Given the description of an element on the screen output the (x, y) to click on. 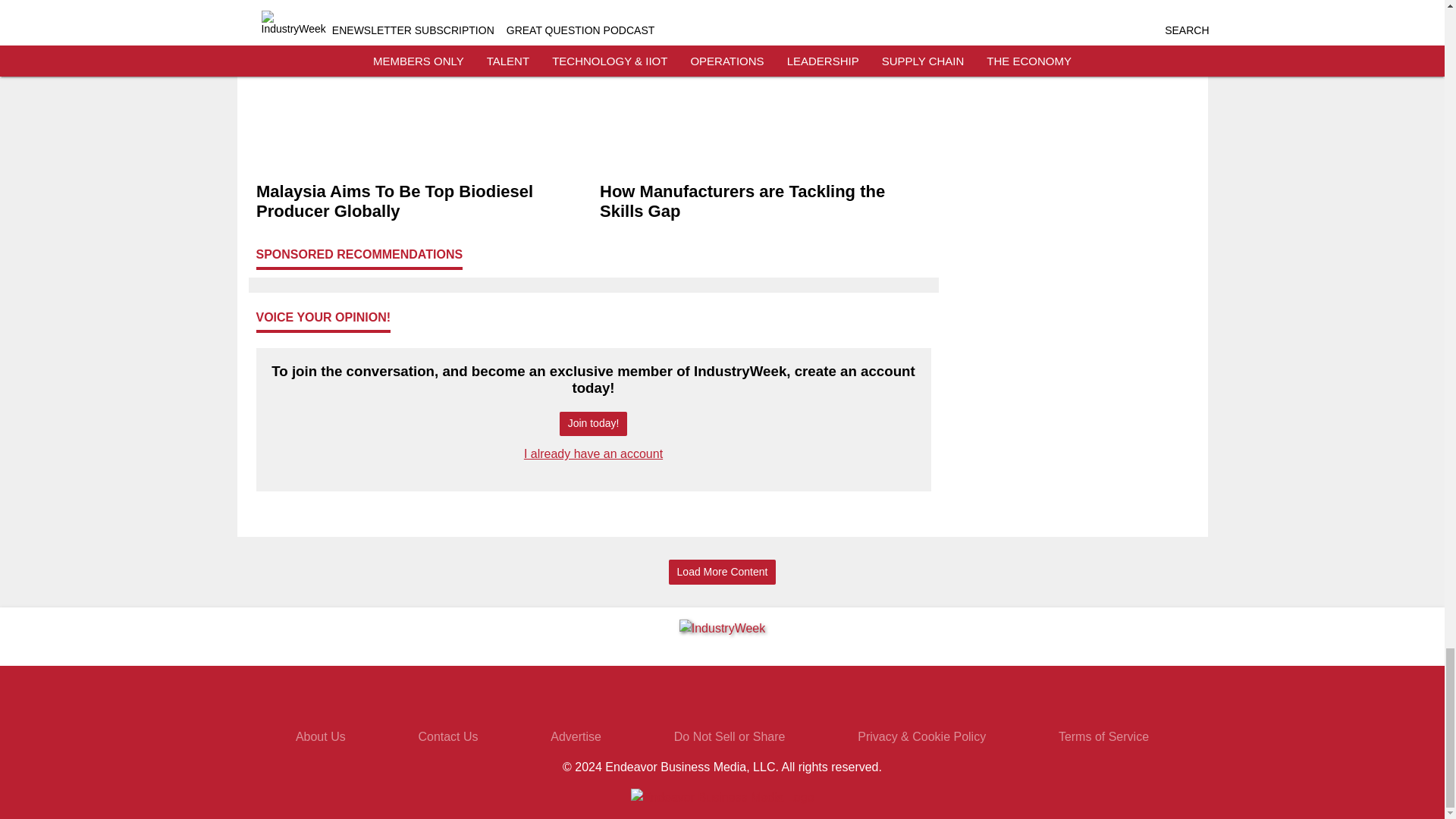
I already have an account (593, 453)
Malaysia Aims To Be Top Biodiesel Producer Globally (422, 201)
Join today! (593, 423)
How Manufacturers are Tackling the Skills Gap (764, 201)
